Given the description of an element on the screen output the (x, y) to click on. 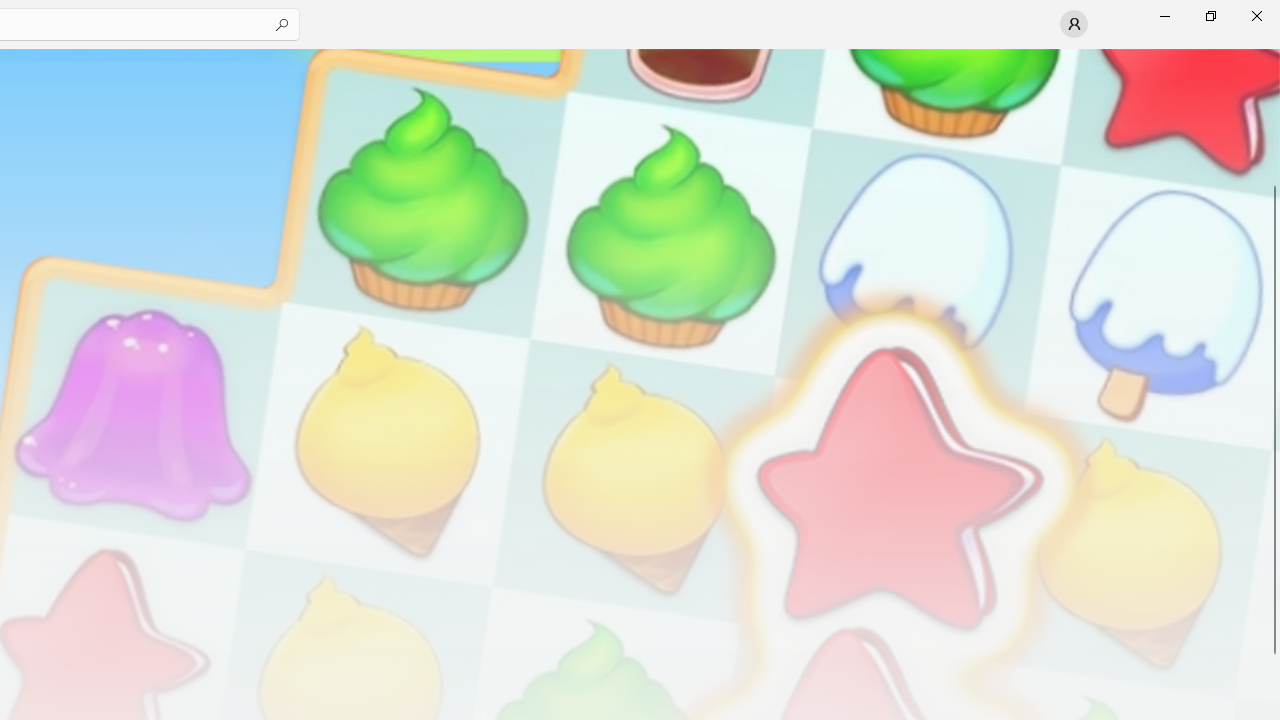
Vertical Small Decrease (1272, 55)
Restore Microsoft Store (1210, 15)
Close Microsoft Store (1256, 15)
Get updates (1193, 155)
User profile (1073, 24)
Minimize Microsoft Store (1164, 15)
Sort and filter (1212, 263)
